Given the description of an element on the screen output the (x, y) to click on. 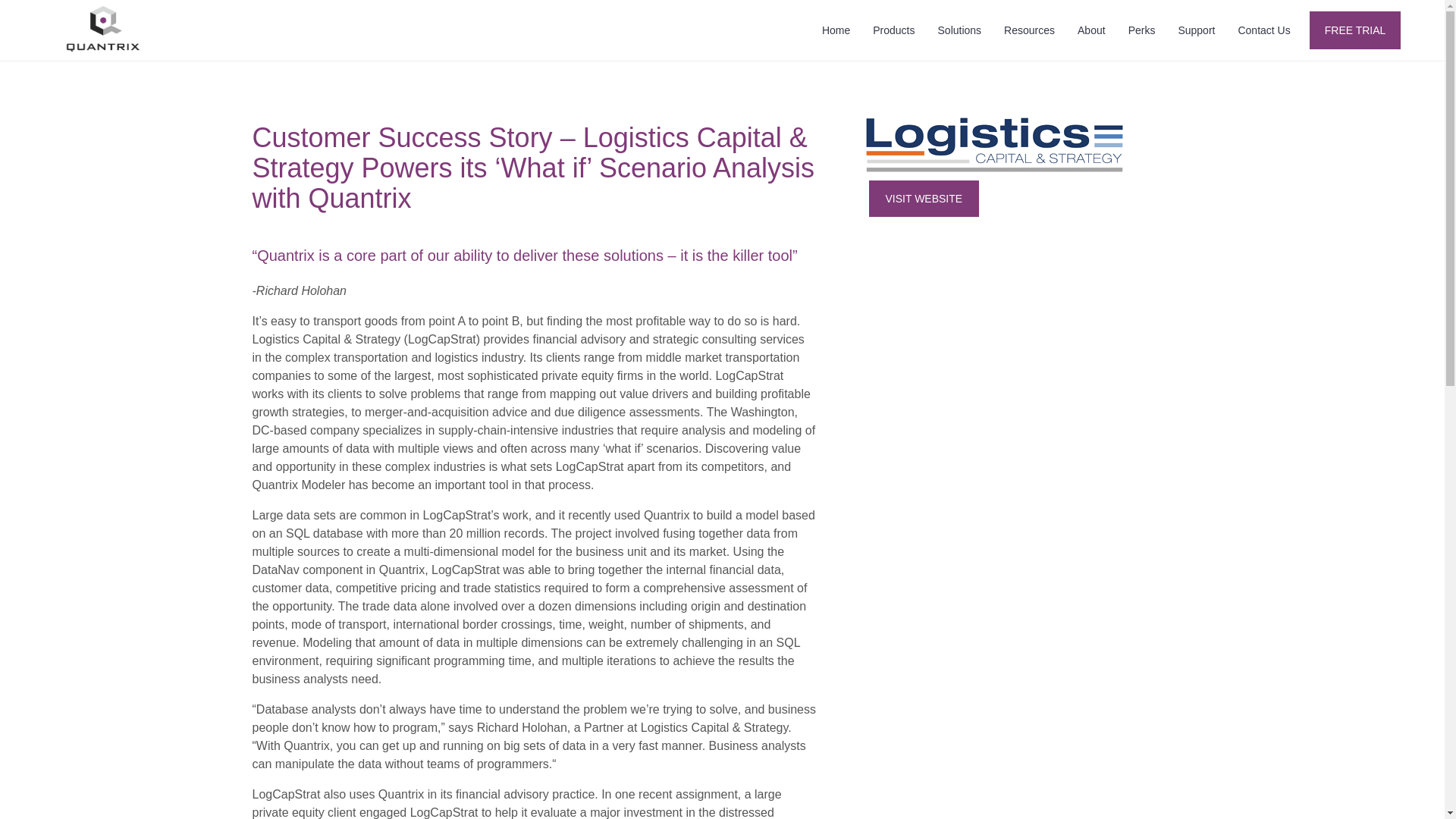
FREE TRIAL (1354, 30)
Contact Us (1263, 30)
Solutions (959, 30)
Products (893, 30)
Resources (1028, 30)
Support (1195, 30)
VISIT WEBSITE (924, 198)
